Given the description of an element on the screen output the (x, y) to click on. 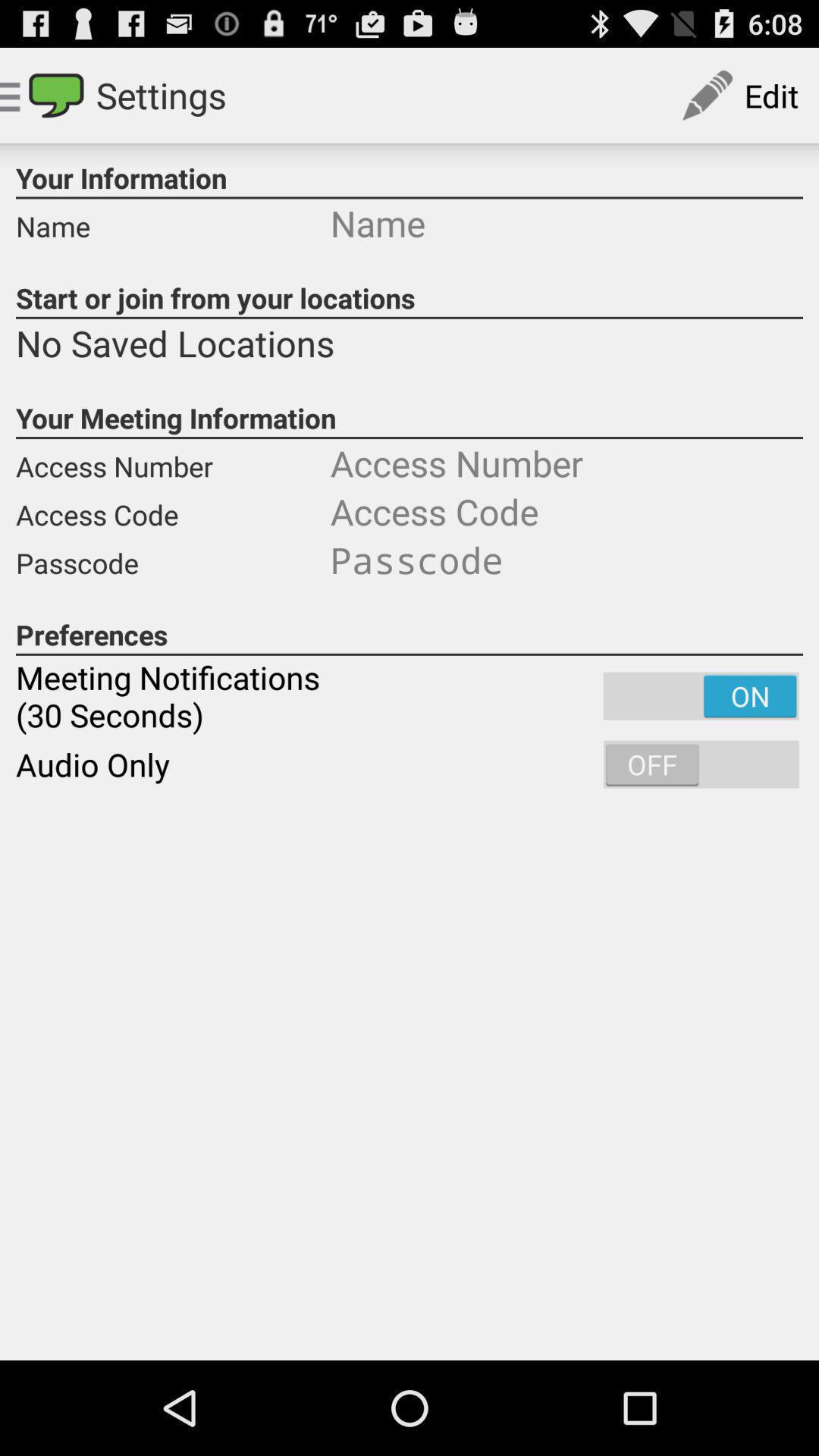
number enter box (566, 463)
